Given the description of an element on the screen output the (x, y) to click on. 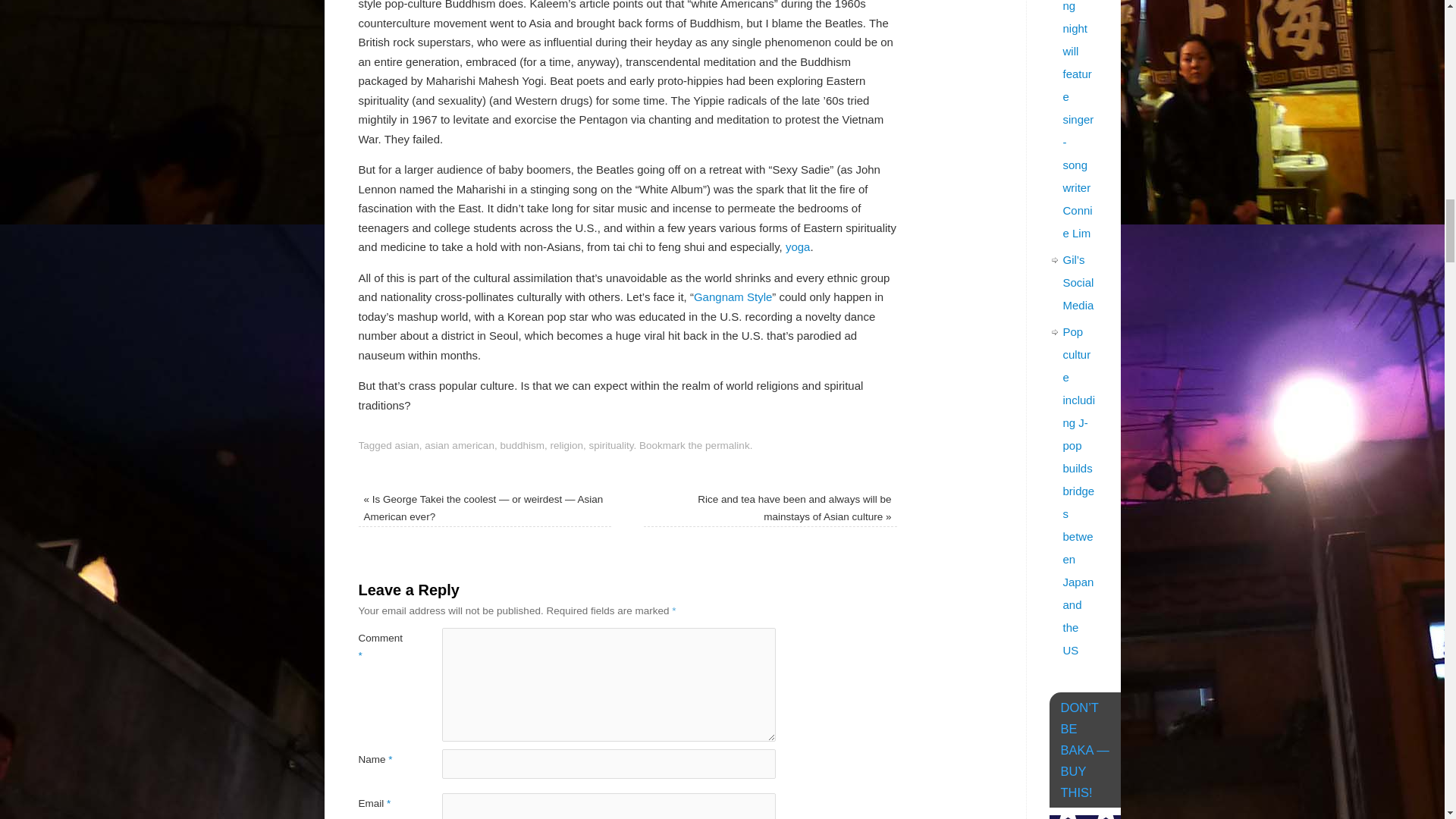
yoga (798, 246)
asian american (460, 445)
Gangnam Style (732, 296)
buddhism (521, 445)
spirituality (611, 445)
permalink (726, 445)
Permalink to Does Buddhism have a diversity problem? (726, 445)
asian (406, 445)
religion (566, 445)
